Given the description of an element on the screen output the (x, y) to click on. 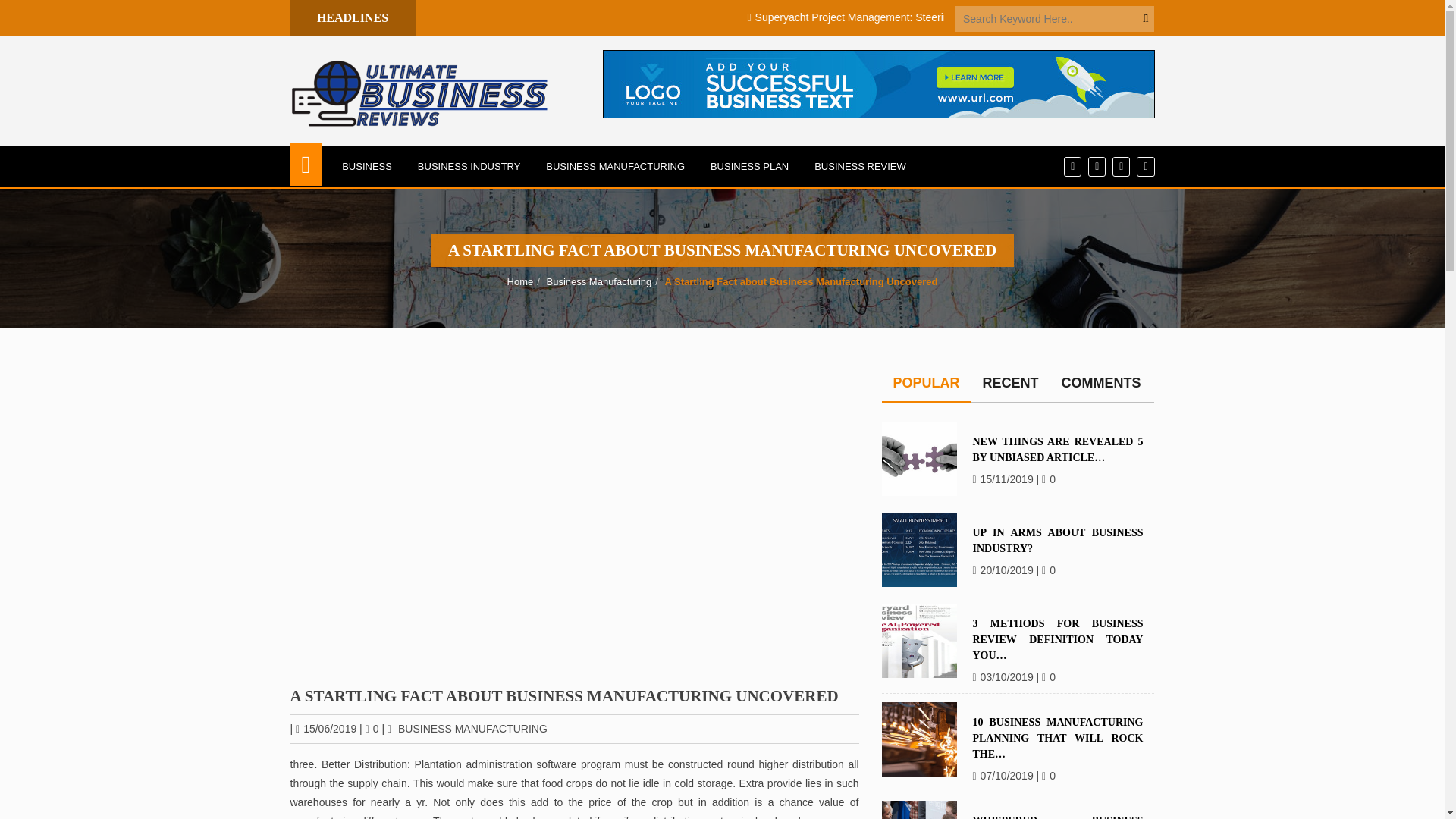
BUSINESS PLAN (748, 166)
Whispered Business Industries Secrets (918, 809)
BUSINESS INDUSTRY (469, 166)
Business Manufacturing (598, 281)
Up In Arms About Business Industry? (918, 549)
BUSINESS MANUFACTURING (614, 166)
BUSINESS MANUFACTURING (472, 728)
